Given the description of an element on the screen output the (x, y) to click on. 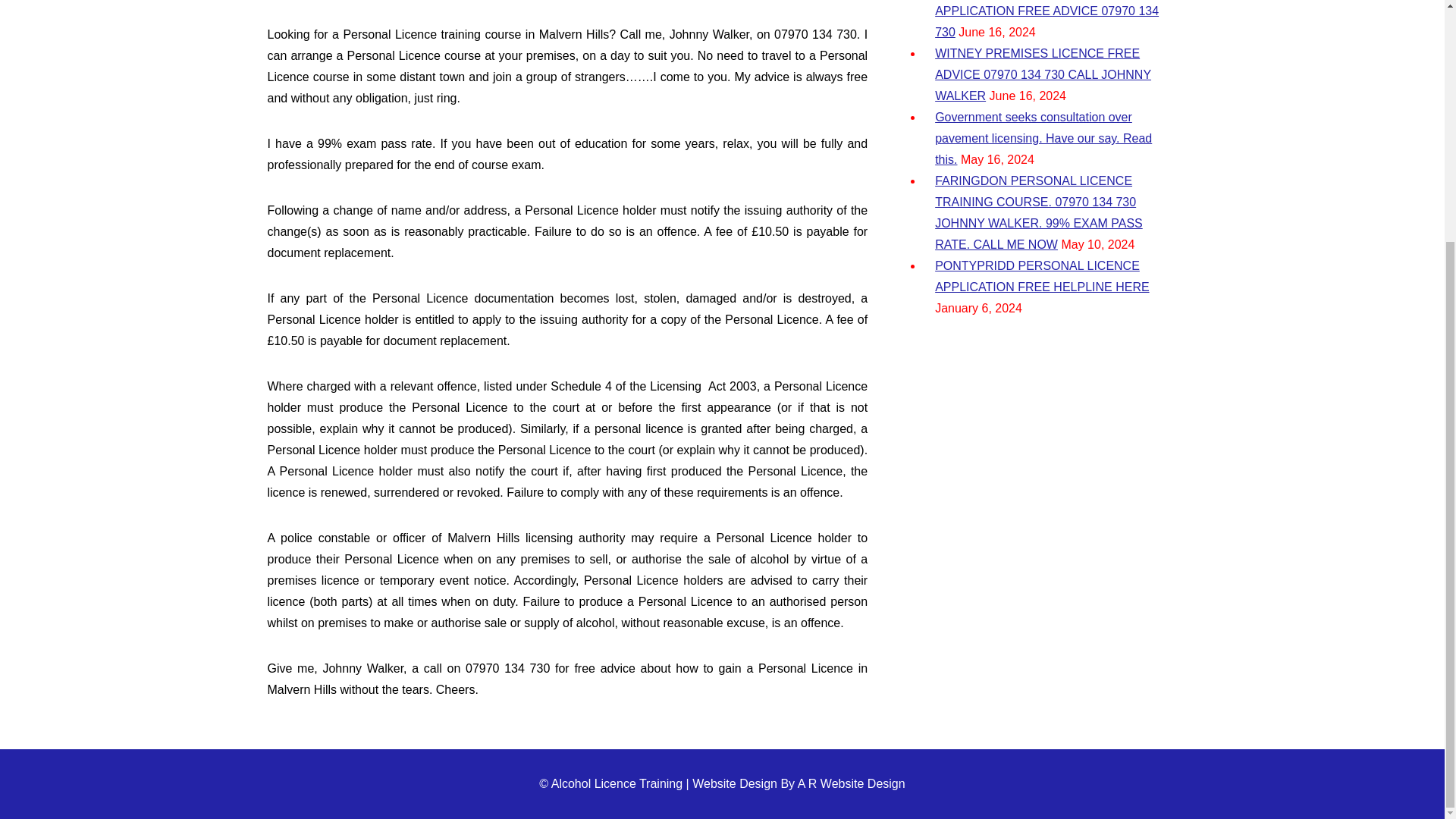
PONTYPRIDD PERSONAL LICENCE APPLICATION FREE HELPLINE HERE (1041, 276)
